Given the description of an element on the screen output the (x, y) to click on. 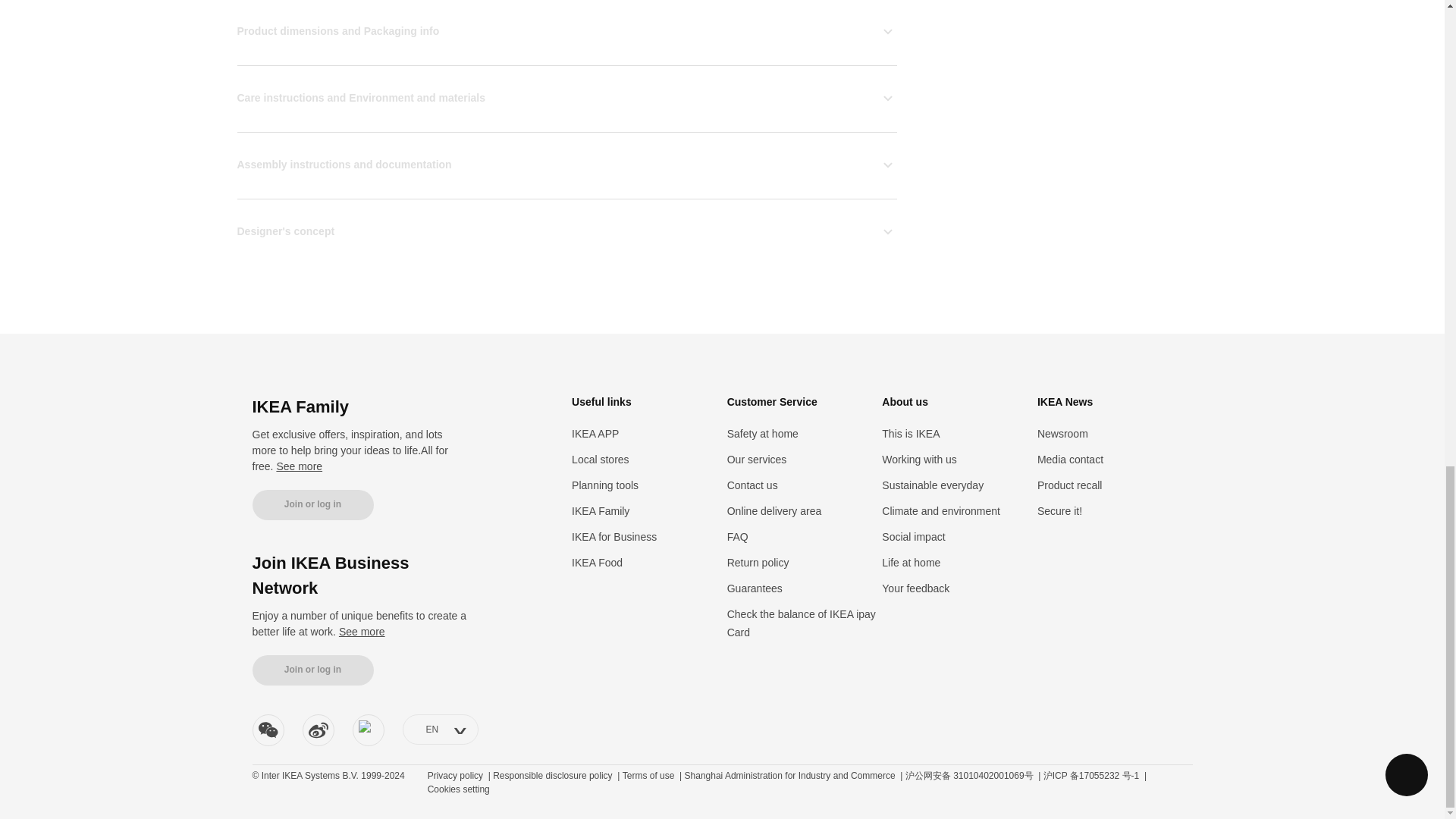
Designer's concept (565, 231)
Care instructions and Environment and materials (565, 97)
Local stores (600, 458)
Our services (756, 458)
Join or log in (311, 503)
IKEA for Business (614, 535)
Product dimensions and Packaging info (565, 32)
Assembly instructions and documentation (565, 164)
IKEA Family (600, 510)
Safety at home (761, 432)
IKEA Food (597, 562)
See more (362, 631)
IKEA APP (595, 432)
Planning tools (605, 484)
Contact us (751, 484)
